Given the description of an element on the screen output the (x, y) to click on. 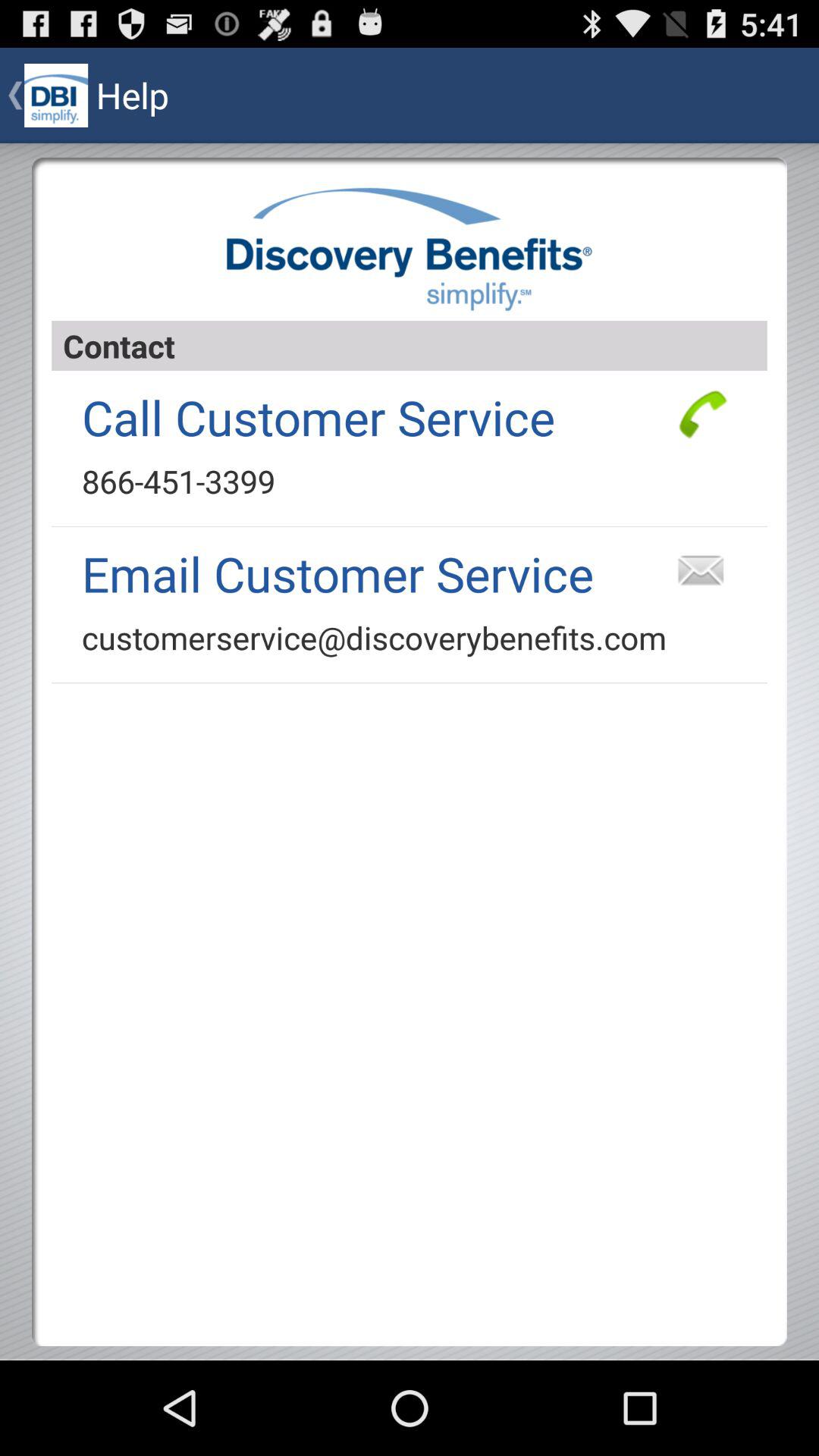
launch the 866-451-3399 app (178, 480)
